Given the description of an element on the screen output the (x, y) to click on. 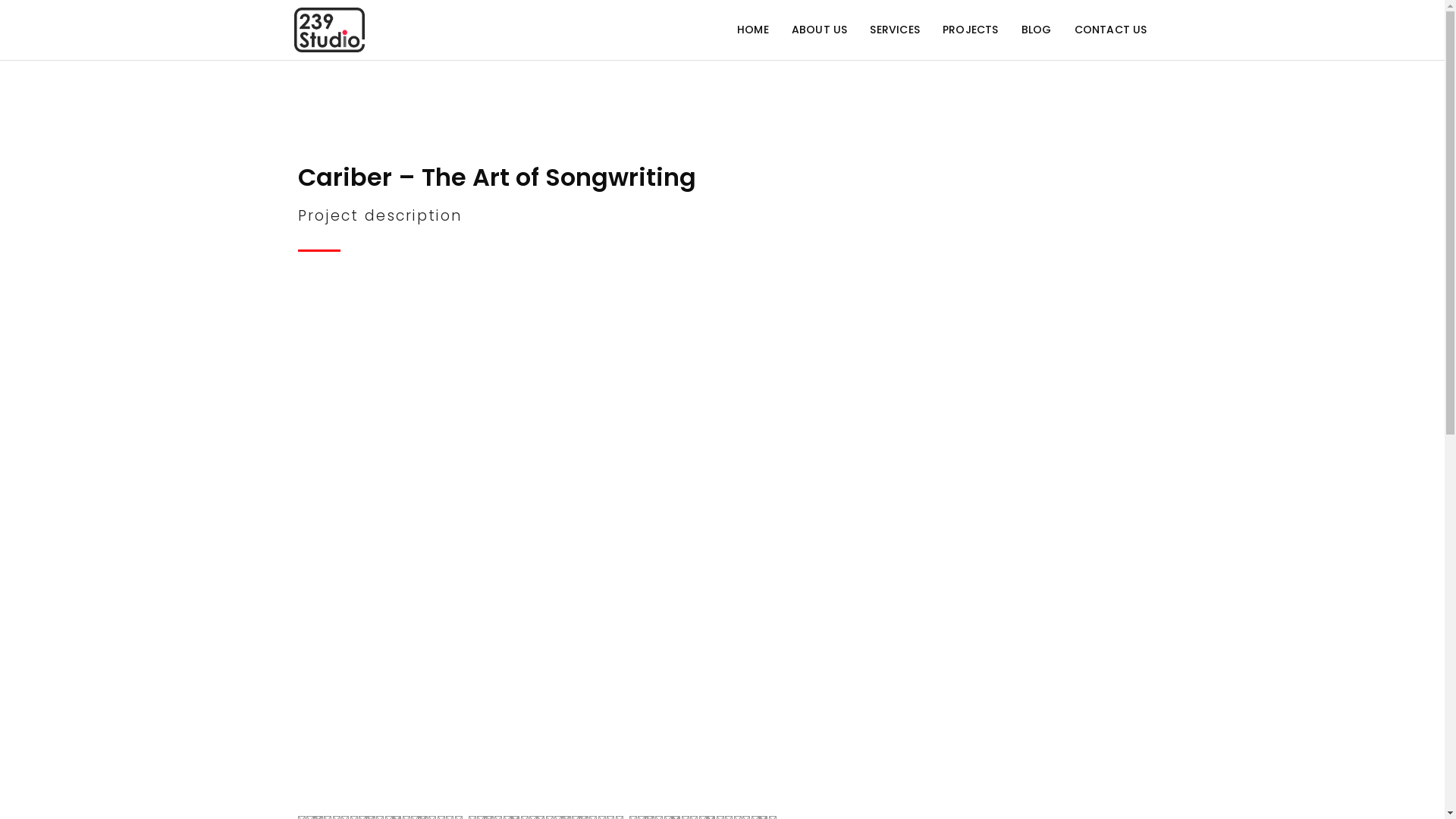
ABOUT US Element type: text (819, 29)
HOME Element type: text (752, 29)
PROJECTS Element type: text (970, 29)
BLOG Element type: text (1036, 29)
SERVICES Element type: text (894, 29)
CONTACT US Element type: text (1110, 29)
